Given the description of an element on the screen output the (x, y) to click on. 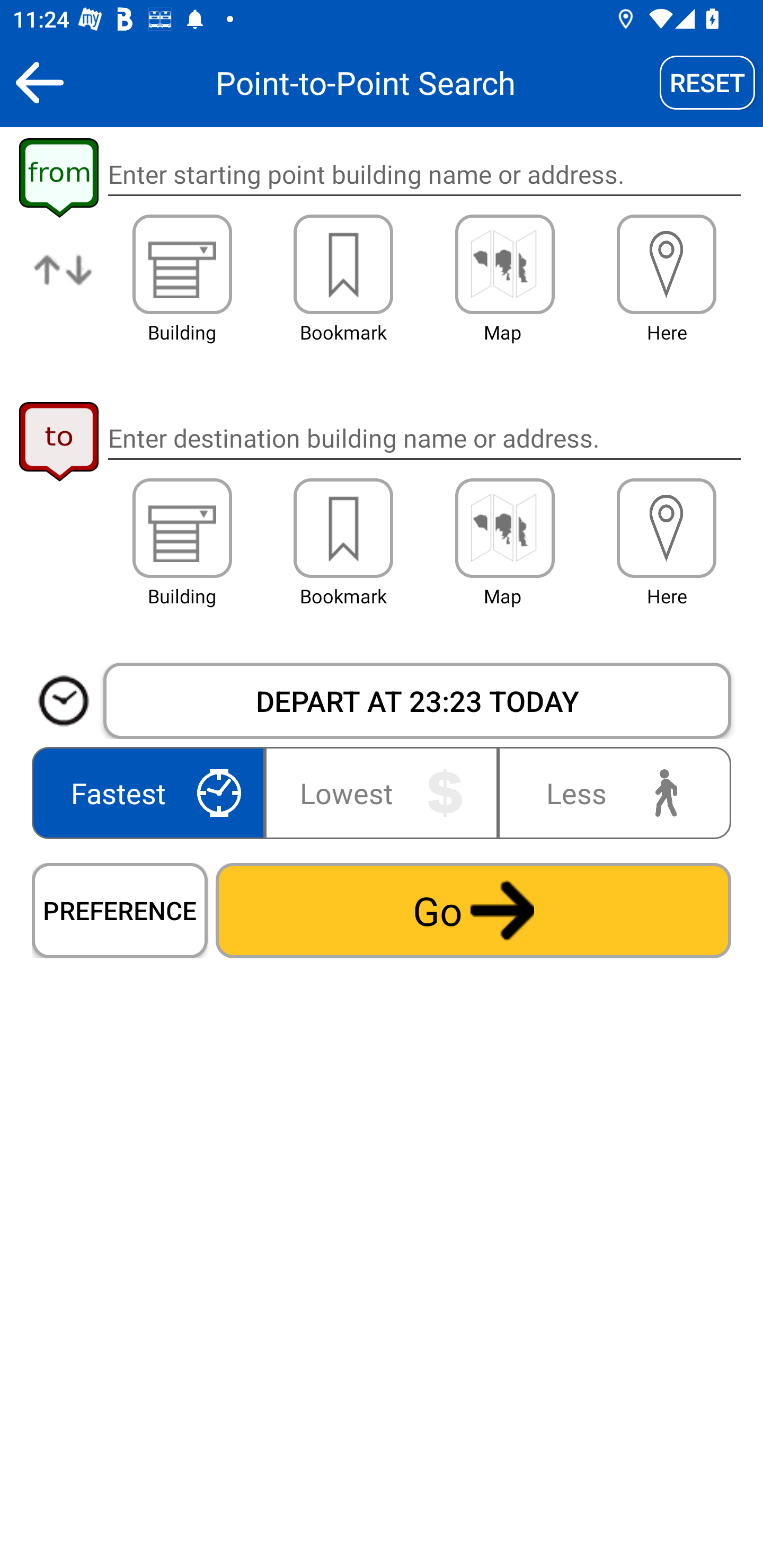
Back (39, 82)
RESET Reset (707, 81)
Enter starting point building name or address. (423, 174)
Building (181, 263)
Bookmarks (342, 263)
Select location on map (504, 263)
Here (666, 263)
Swap origin and destination (63, 284)
Enter destination building name or address. (423, 437)
Building (181, 528)
Bookmarks (342, 528)
Select location on map (504, 528)
Here (666, 528)
Lowest (381, 792)
Fastest selected (151, 792)
Less (610, 792)
PREFERENCE Preference (119, 910)
Go (472, 910)
